Given the description of an element on the screen output the (x, y) to click on. 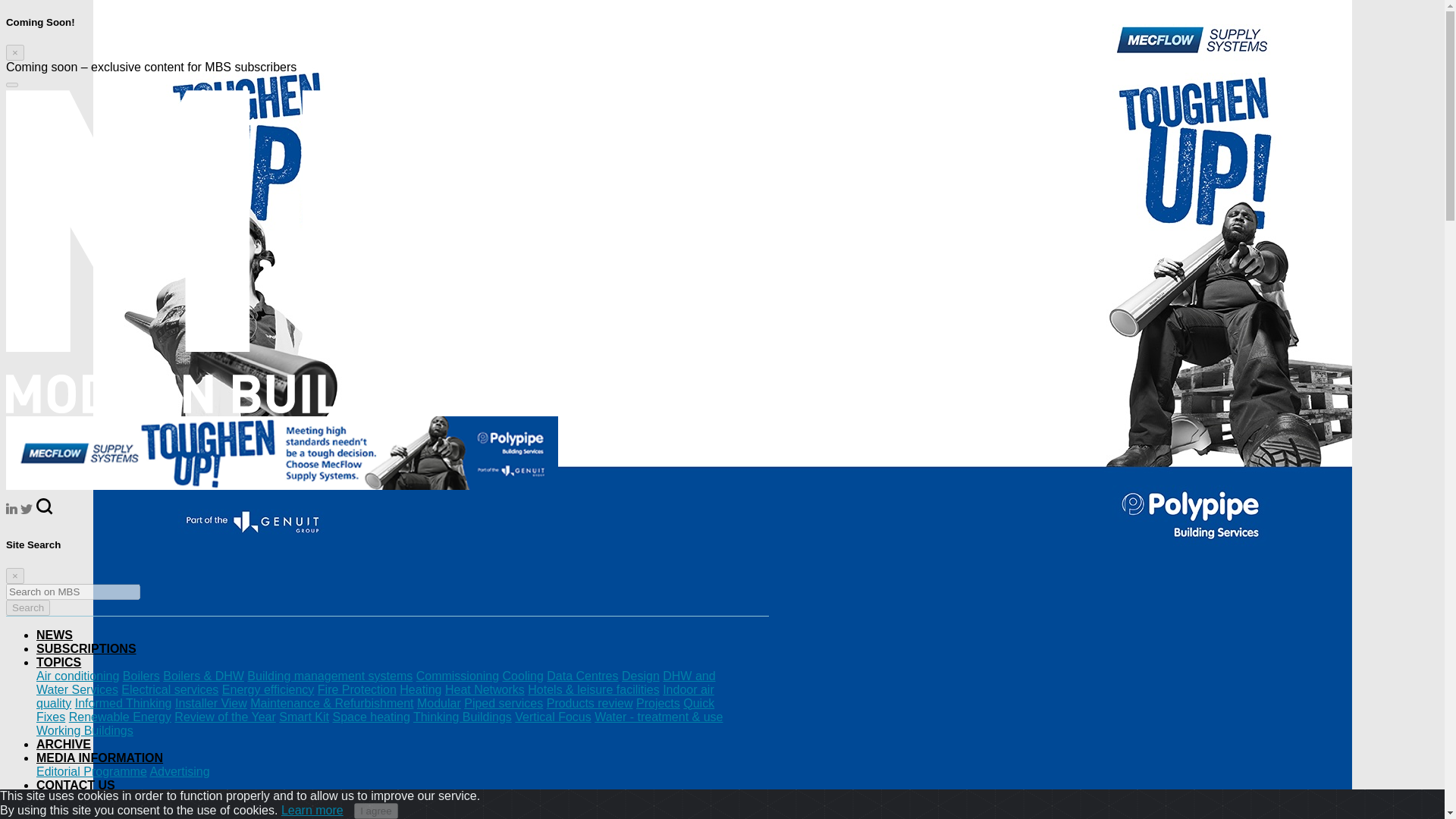
Search (27, 607)
Cooling (522, 675)
Informed Thinking (123, 703)
Installer View (210, 703)
Review of the Year (224, 716)
Building management systems (329, 675)
Electrical services (169, 689)
Renewable Energy (119, 716)
Heating (419, 689)
Boilers (141, 675)
Heat Networks (484, 689)
NEWS (54, 634)
Modular (438, 703)
TOPICS (58, 662)
Design (640, 675)
